Given the description of an element on the screen output the (x, y) to click on. 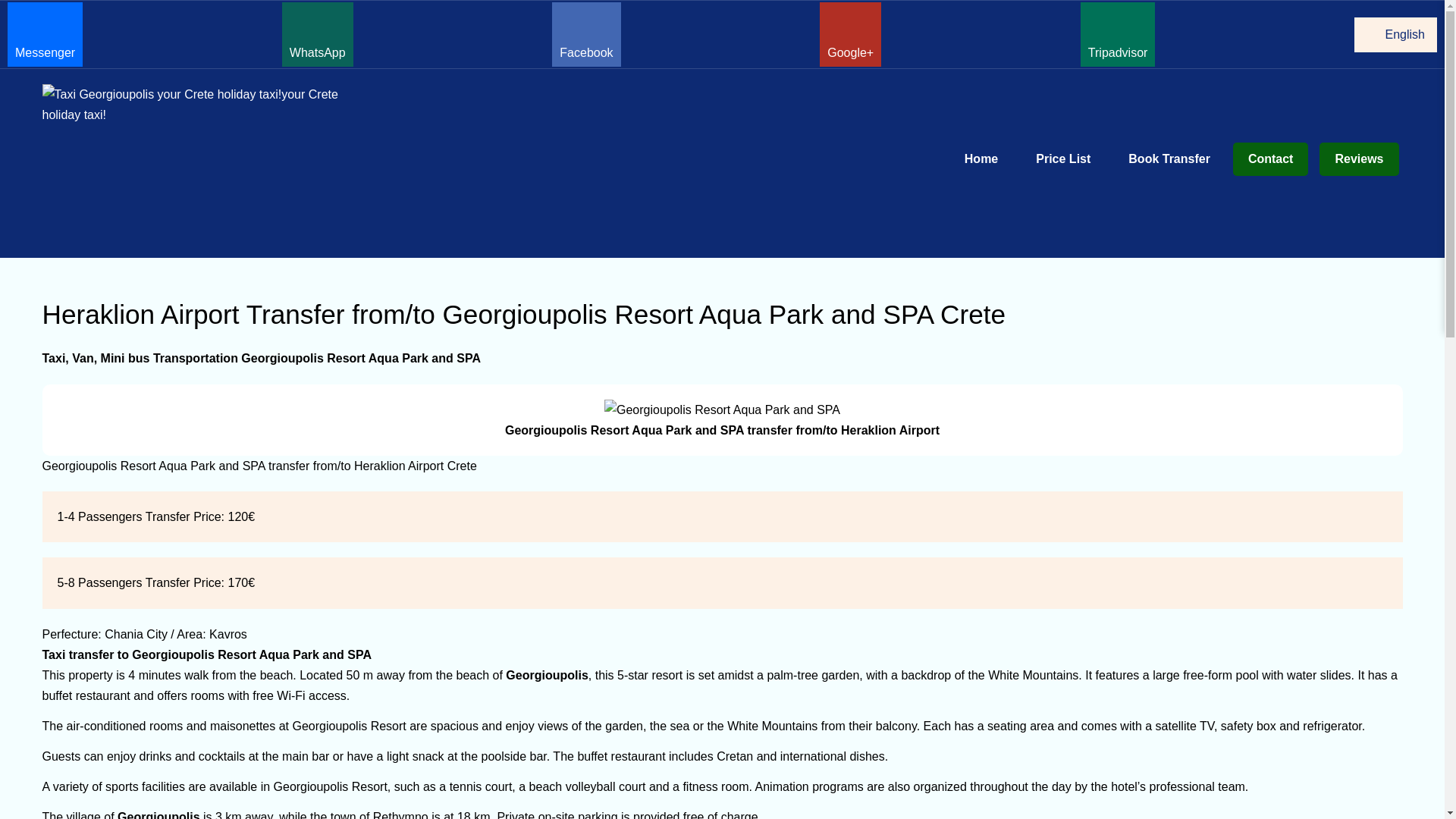
Book Transfer (1169, 159)
WhatsApp (317, 34)
Contact Us with Facebook (585, 34)
Contact Us with Messenger (44, 34)
Contact Taxi Georgioupolis Crete Transfers (1270, 159)
Tripadvisor (1118, 34)
English (1395, 34)
Reviews (1358, 159)
Contact Us with WhatsApp (317, 34)
Home (981, 159)
your Crete holiday taxi! (203, 104)
Taxi Georgioupolis your Crete holiday taxi! (203, 104)
Contact (1270, 159)
Contact Us with Tripadvisor (1118, 34)
